Given the description of an element on the screen output the (x, y) to click on. 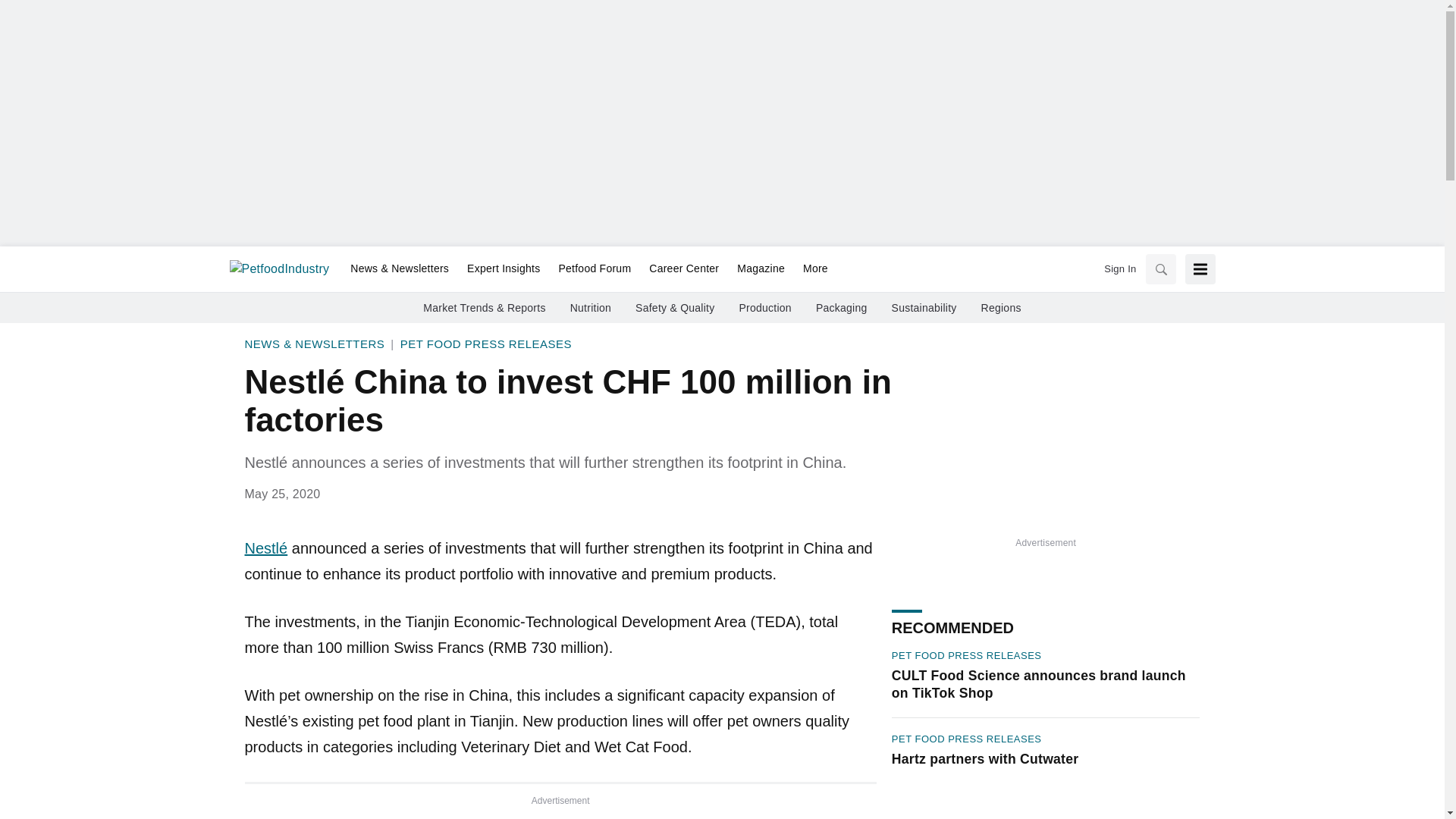
Regions (1001, 307)
Expert Insights (503, 269)
Pet Food Press Releases (486, 343)
Production (764, 307)
Nutrition (590, 307)
Sustainability (923, 307)
Sign In (1119, 268)
Petfood Forum (594, 269)
Magazine (760, 269)
Packaging (841, 307)
